Given the description of an element on the screen output the (x, y) to click on. 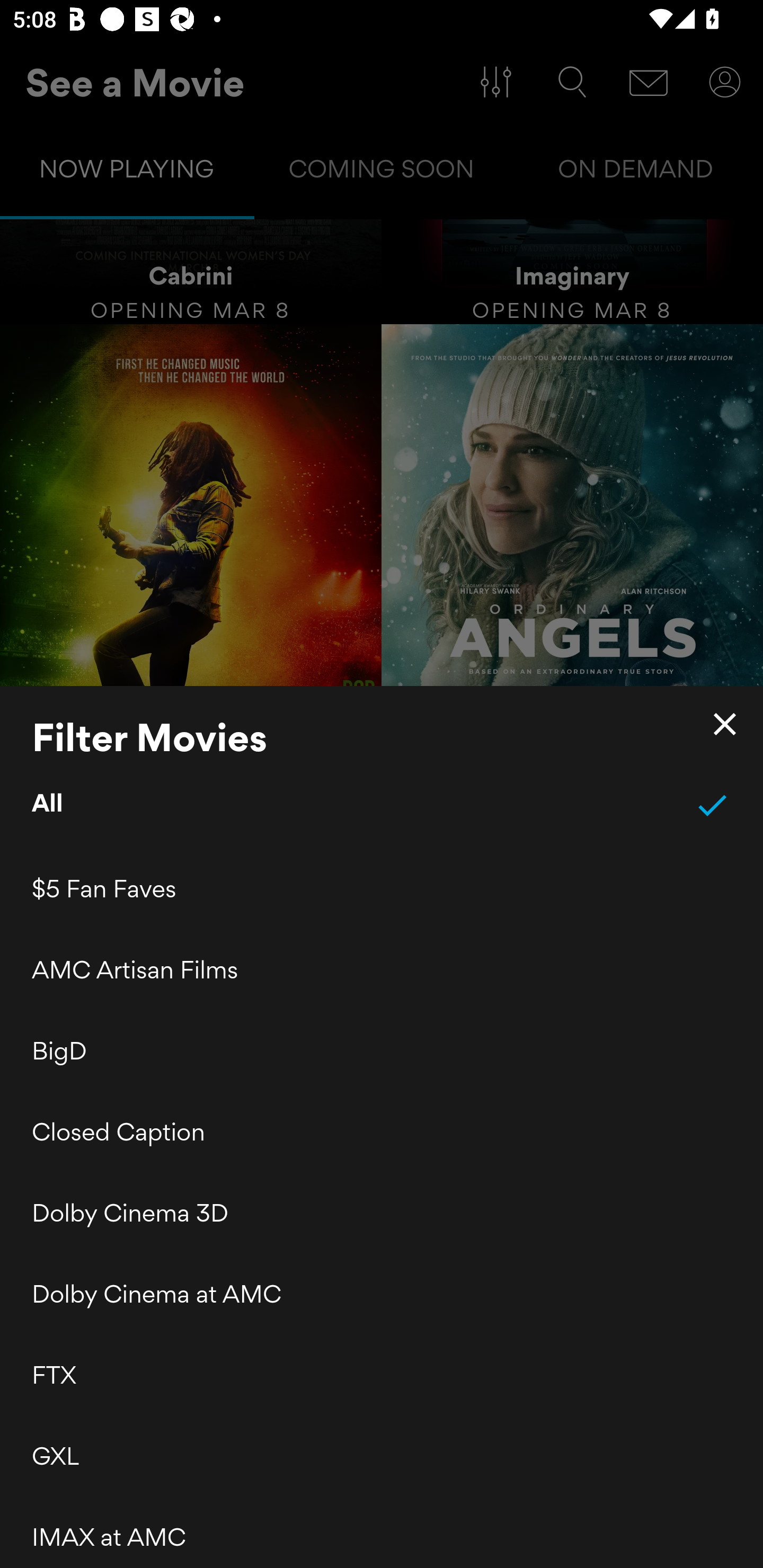
Close (724, 724)
All (381, 805)
$5 Fan Faves (381, 888)
AMC Artisan Films (381, 969)
BigD (381, 1050)
Closed Caption (381, 1131)
Dolby Cinema 3D (381, 1212)
Dolby Cinema at AMC (381, 1293)
FTX (381, 1374)
GXL (381, 1455)
IMAX at AMC (381, 1531)
